Given the description of an element on the screen output the (x, y) to click on. 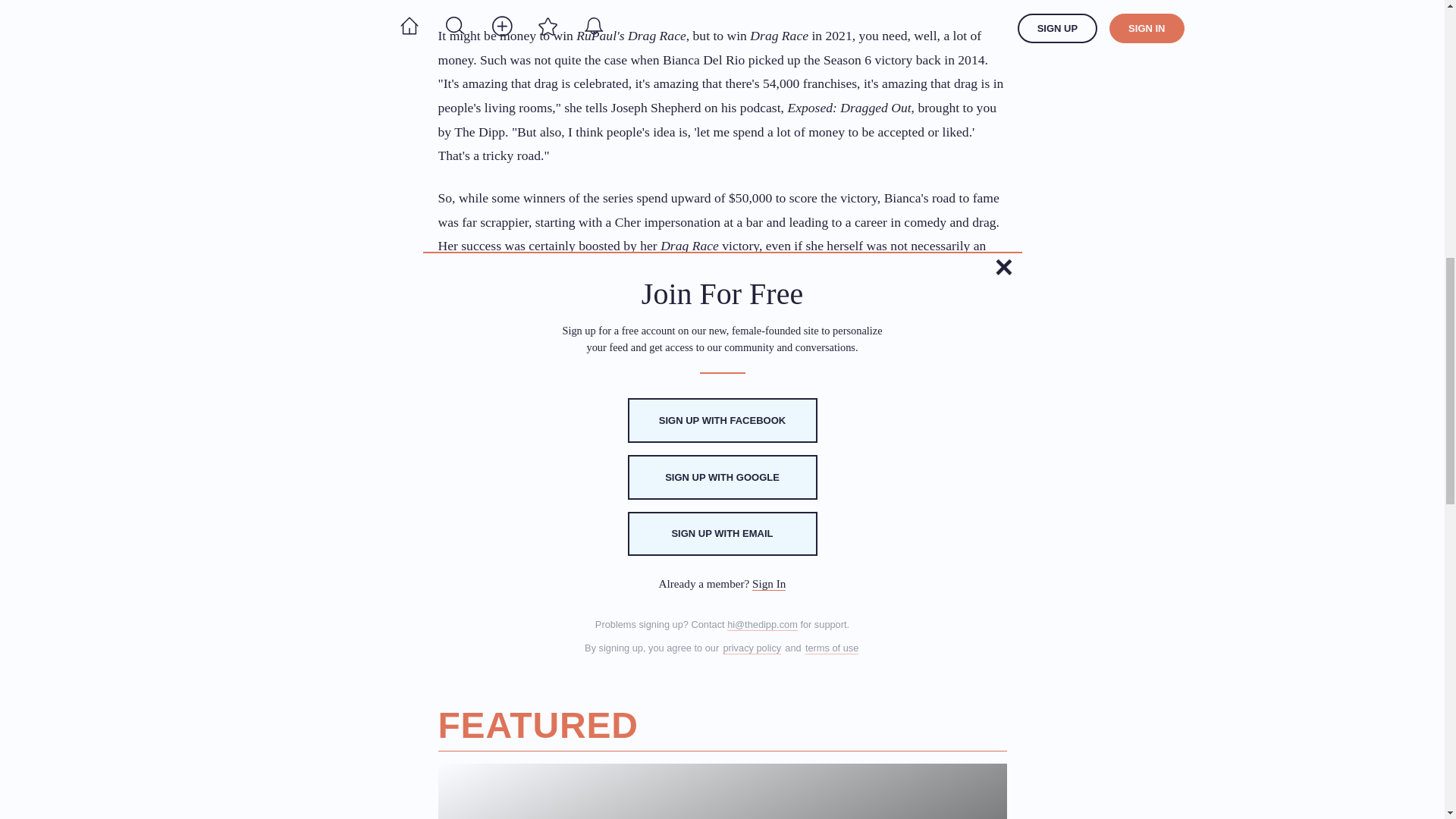
SIGN UP WITH FACEBOOK (721, 420)
SIGN UP WITH EMAIL (721, 533)
terms of use (832, 648)
privacy policy (751, 648)
Sign In (769, 583)
SIGN UP WITH GOOGLE (721, 477)
